Given the description of an element on the screen output the (x, y) to click on. 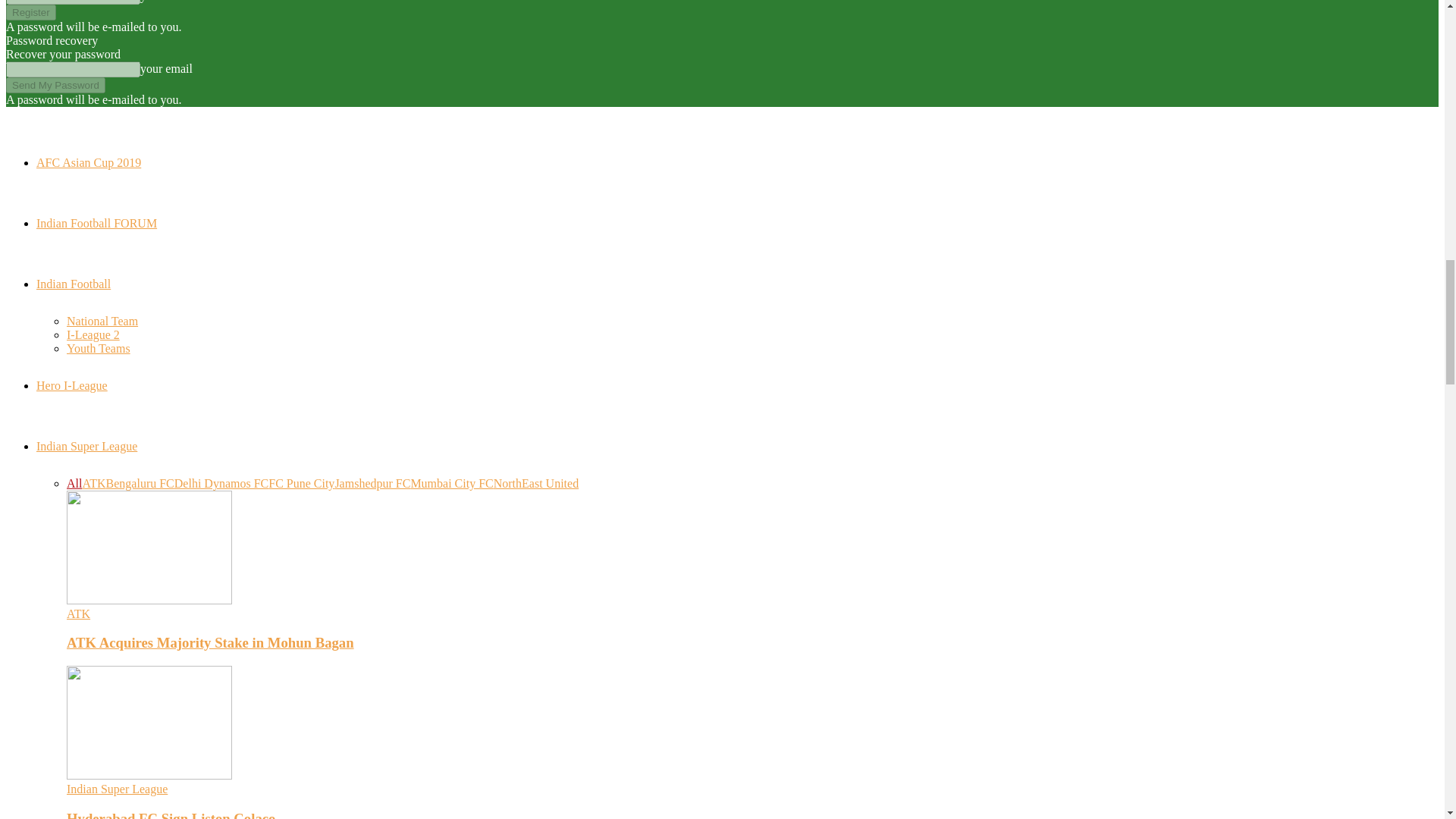
Send My Password (54, 84)
Register (30, 12)
